Given the description of an element on the screen output the (x, y) to click on. 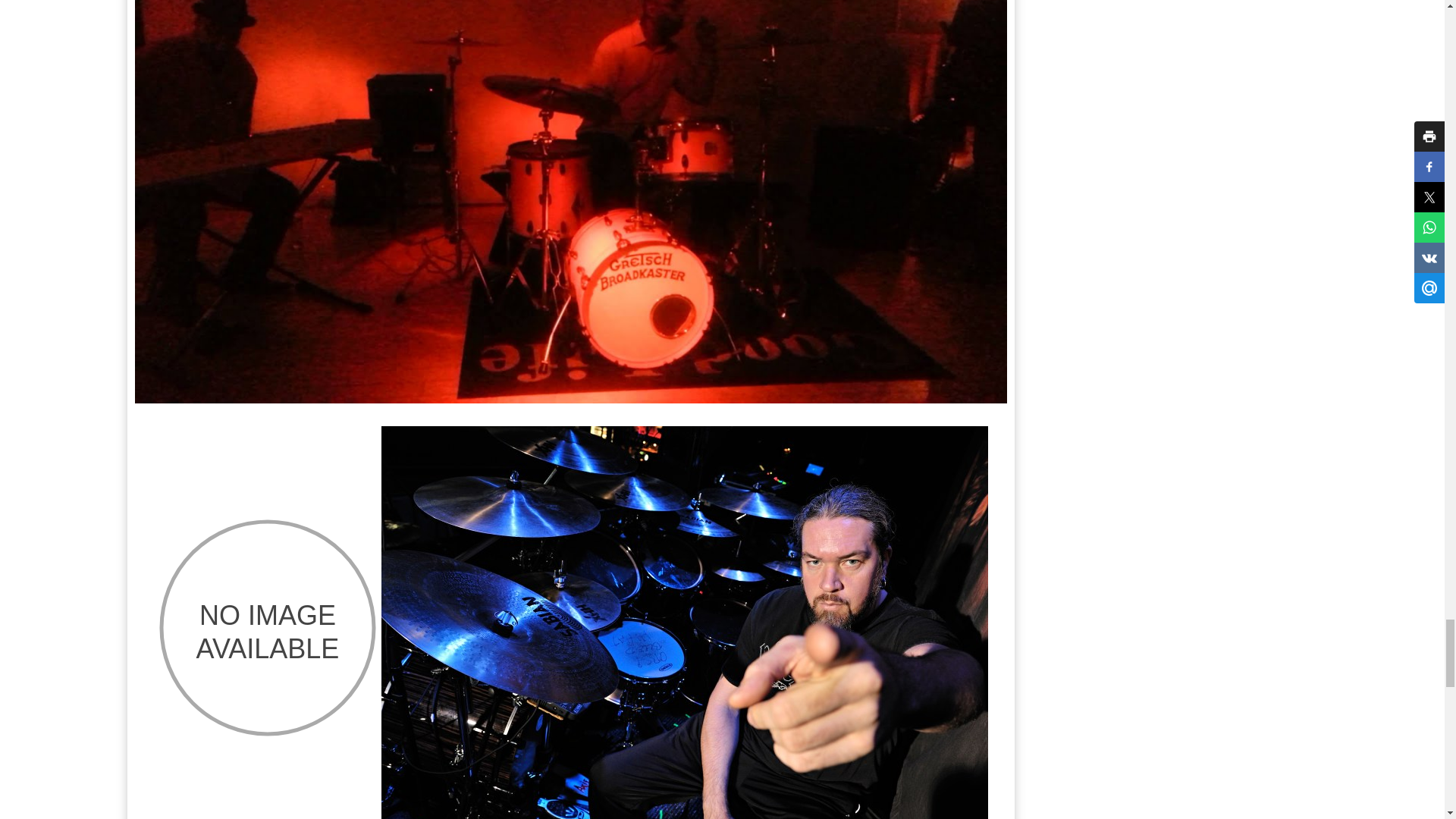
Fetish hose man pantie party (266, 628)
